Given the description of an element on the screen output the (x, y) to click on. 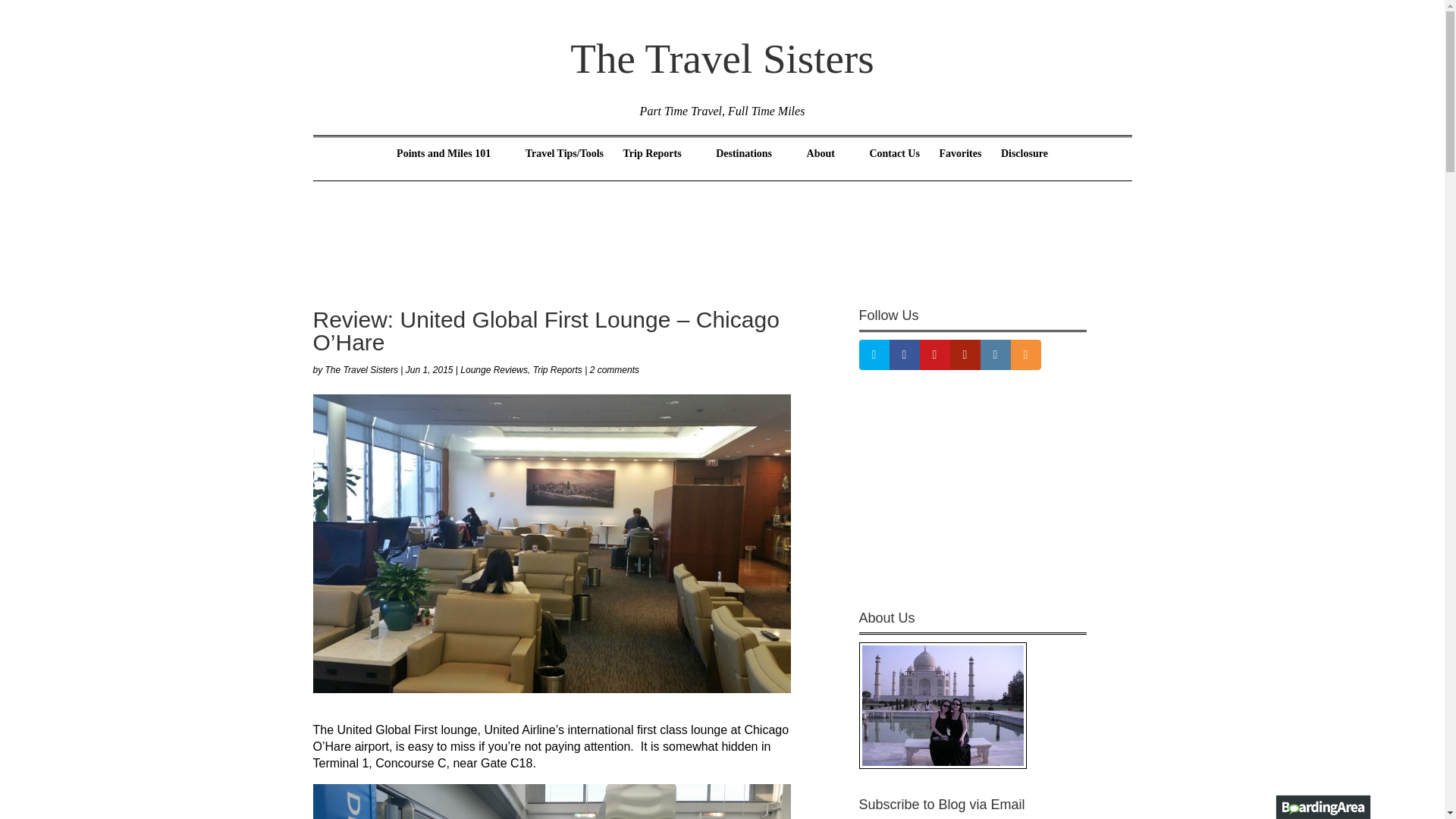
Trip Reports (660, 164)
Lounge Reviews (493, 369)
About (828, 164)
Posts by The Travel Sisters (360, 369)
The Travel Sisters (721, 58)
Contact Us (894, 164)
Points and Miles 101 (450, 164)
The Travel Sisters (360, 369)
Favorites (960, 164)
Destinations (751, 164)
